Given the description of an element on the screen output the (x, y) to click on. 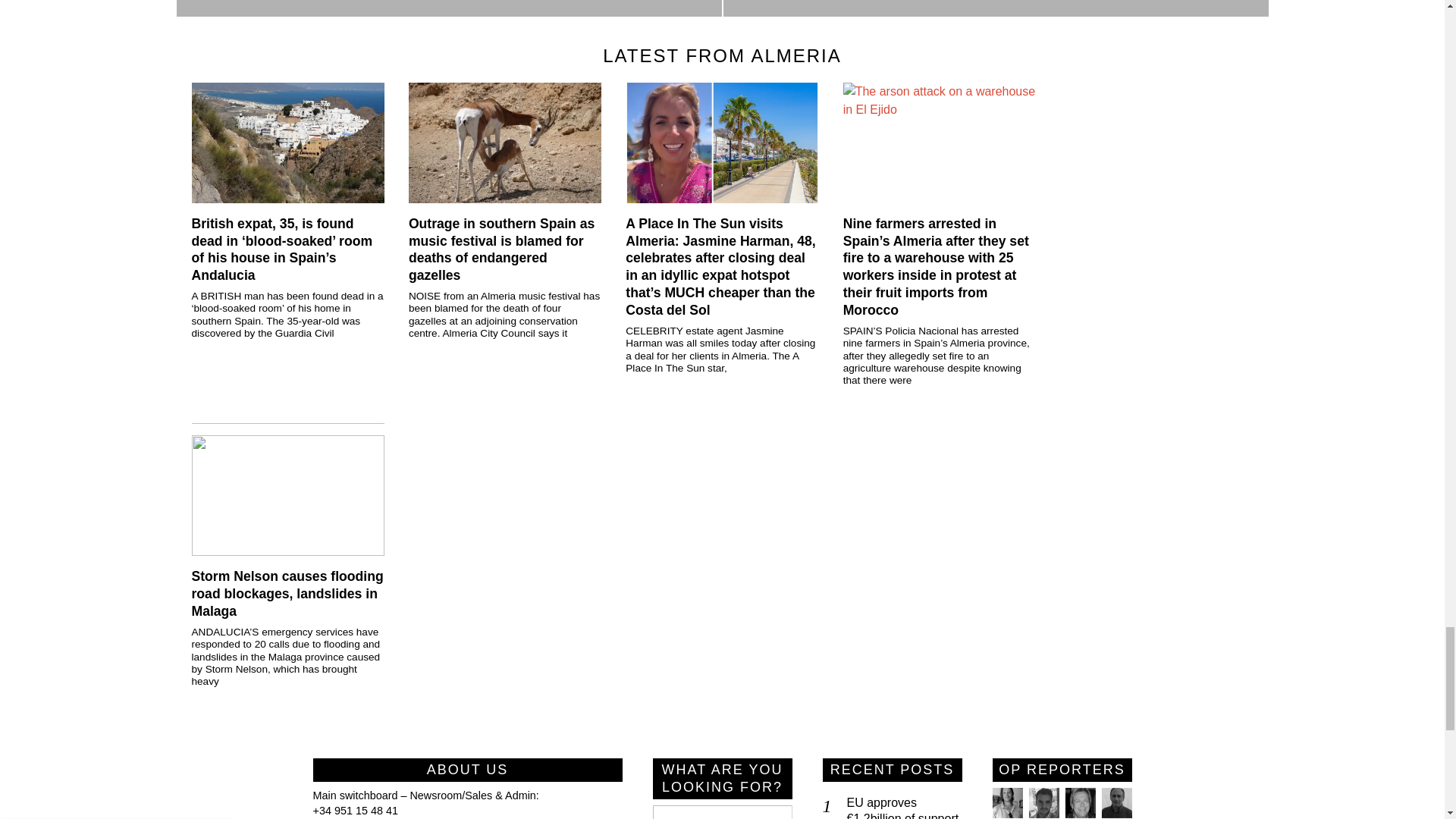
Go (773, 812)
Laurence Dollimore (1042, 802)
Dilip Kuner (1115, 802)
Alex Trelinski (1079, 802)
